Given the description of an element on the screen output the (x, y) to click on. 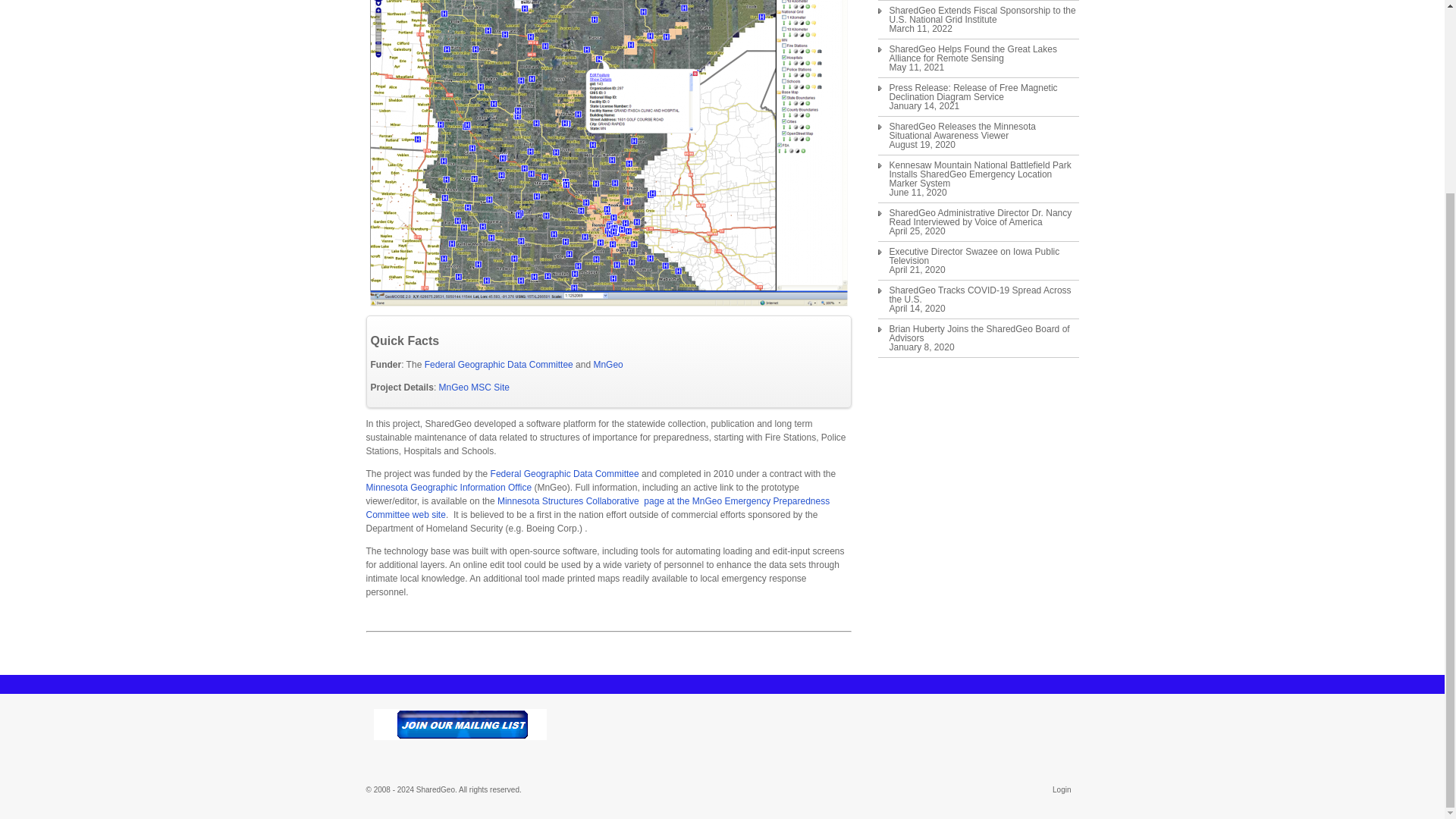
MnGeo MSC Site (474, 387)
Twitter (902, 718)
Federal Geographic Data Committee (566, 473)
Brian Huberty Joins the SharedGeo Board of Advisors (983, 333)
MnGeo  (474, 387)
Executive Director Swazee on Iowa Public Television (983, 256)
SharedGeo Tracks COVID-19 Spread Across the U.S. (983, 294)
RSS (888, 718)
MnGeo (607, 364)
Twitter (902, 718)
Minnesota Geographic Information Office (448, 487)
